Given the description of an element on the screen output the (x, y) to click on. 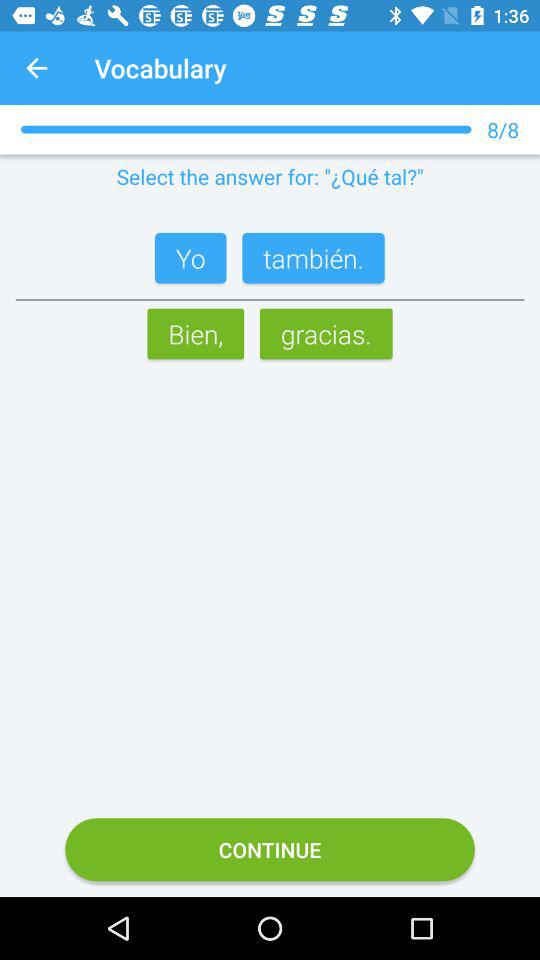
launch the app to the left of vocabulary app (36, 68)
